Given the description of an element on the screen output the (x, y) to click on. 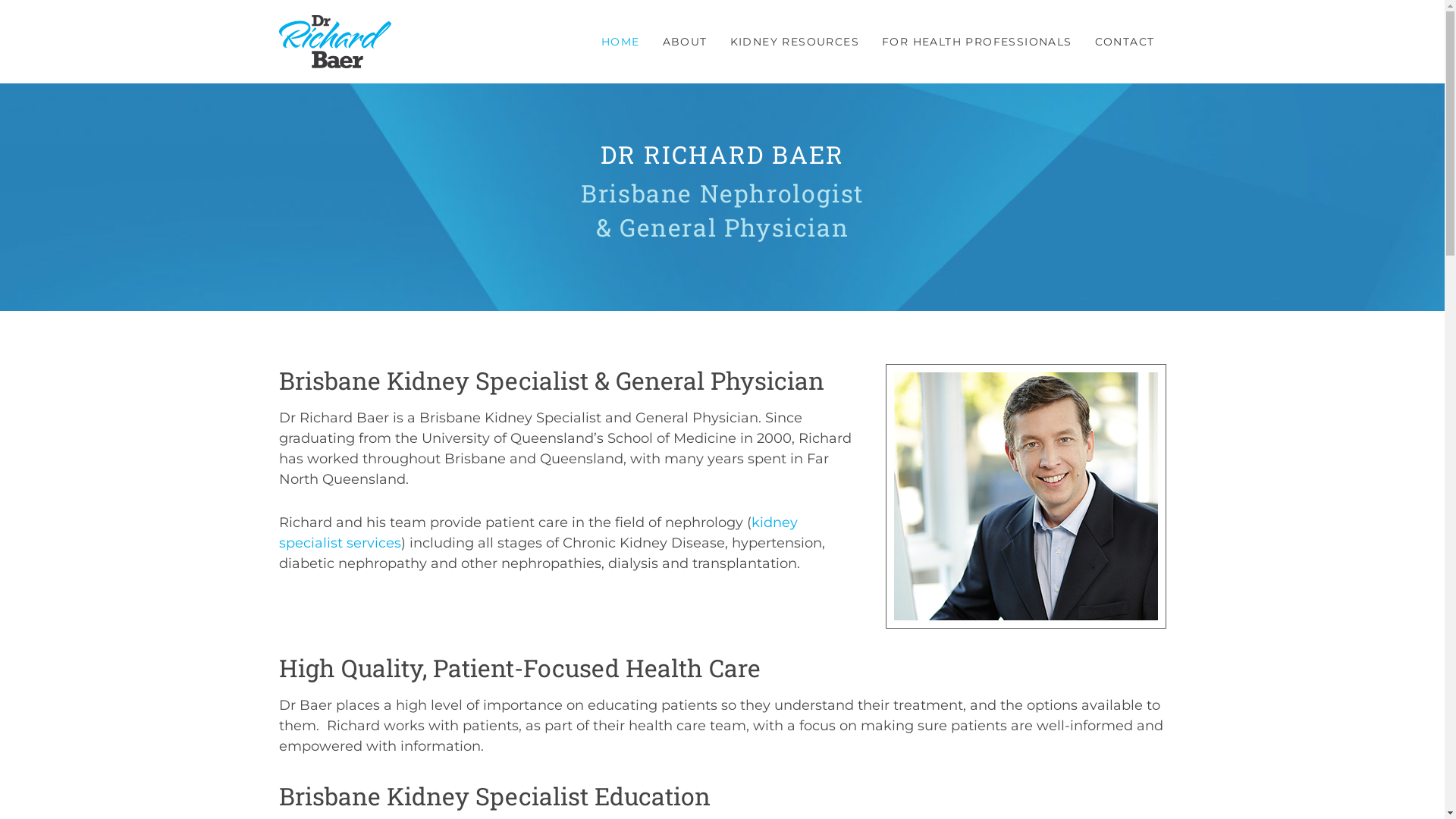
FOR HEALTH PROFESSIONALS Element type: text (976, 41)
ABOUT Element type: text (684, 41)
HOME Element type: text (620, 41)
CONTACT Element type: text (1124, 41)
kidney specialist services Element type: text (538, 532)
KIDNEY RESOURCES Element type: text (794, 41)
Dr Richard Baer Element type: hover (335, 41)
